Given the description of an element on the screen output the (x, y) to click on. 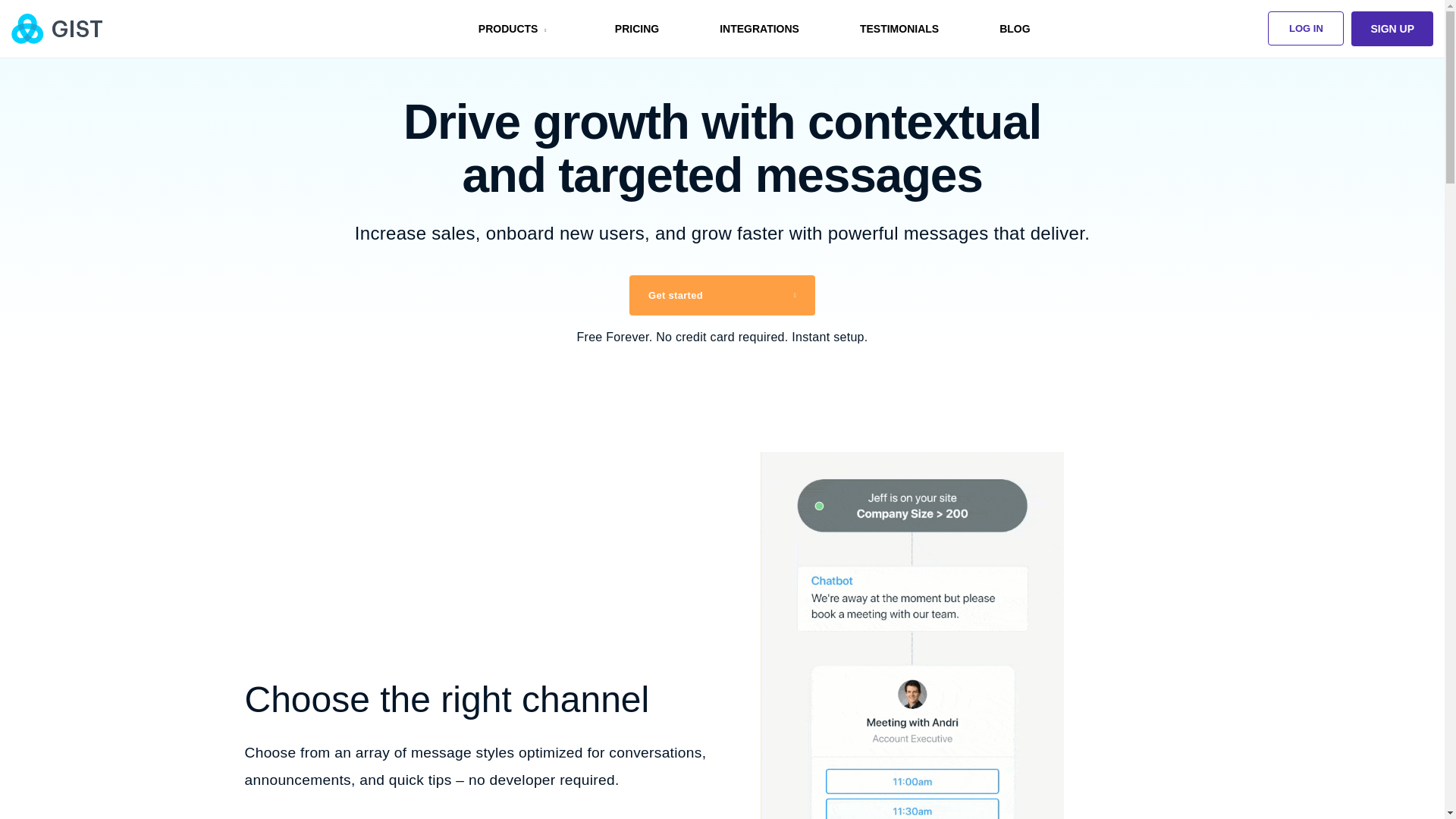
PRICING (636, 28)
INTEGRATIONS (758, 28)
BLOG (1014, 28)
TESTIMONIALS (898, 28)
Get started (721, 295)
LOG IN (1305, 28)
PRODUCTS (516, 28)
SIGN UP (1391, 28)
